Given the description of an element on the screen output the (x, y) to click on. 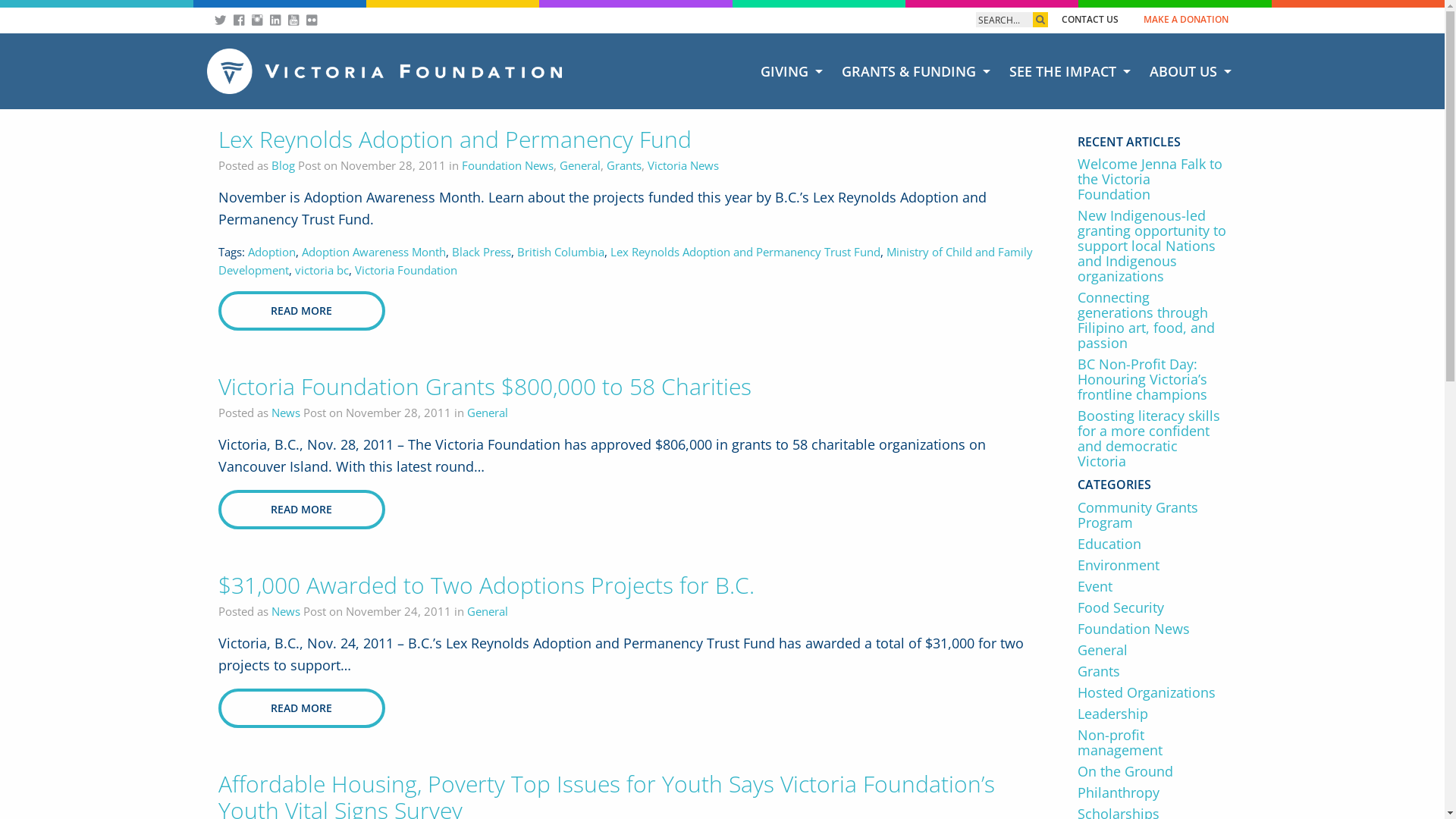
Search Element type: hover (1003, 19)
MAKE A DONATION Element type: text (1185, 19)
General Element type: text (487, 610)
$31,000 Awarded to Two Adoptions Projects for B.C. Element type: text (486, 584)
Hosted Organizations Element type: text (1151, 691)
General Element type: text (579, 164)
Food Security Element type: text (1151, 607)
British Columbia Element type: text (560, 251)
Ministry of Child and Family Development Element type: text (625, 260)
victoria bc Element type: text (321, 269)
On the Ground Element type: text (1151, 770)
READ MORE Element type: text (301, 310)
Environment Element type: text (1151, 564)
GRANTS & FUNDING Element type: text (914, 71)
Victoria Foundation Element type: text (405, 269)
Philanthropy Element type: text (1151, 792)
GIVING Element type: text (788, 71)
Event Element type: text (1151, 585)
Adoption Element type: text (270, 251)
Education Element type: text (1151, 543)
Leadership Element type: text (1151, 713)
Lex Reynolds Adoption and Permanency Trust Fund Element type: text (744, 251)
Adoption Awareness Month Element type: text (373, 251)
Victoria News Element type: text (682, 164)
News Element type: text (285, 412)
READ MORE Element type: text (301, 509)
News Element type: text (285, 610)
CONTACT US Element type: text (1090, 19)
Foundation News Element type: text (506, 164)
Victoria Foundation Grants $800,000 to 58 Charities Element type: text (484, 385)
Black Press Element type: text (481, 251)
General Element type: text (1151, 649)
Community Grants Program Element type: text (1151, 514)
Welcome Jenna Falk to the Victoria Foundation Element type: text (1151, 178)
ABOUT US Element type: text (1188, 71)
General Element type: text (487, 412)
Blog Element type: text (282, 164)
Non-profit management Element type: text (1151, 742)
READ MORE Element type: text (301, 708)
SEE THE IMPACT Element type: text (1067, 71)
Grants Element type: text (623, 164)
Foundation News Element type: text (1151, 628)
Lex Reynolds Adoption and Permanency Fund Element type: text (454, 138)
Grants Element type: text (1151, 670)
